Given the description of an element on the screen output the (x, y) to click on. 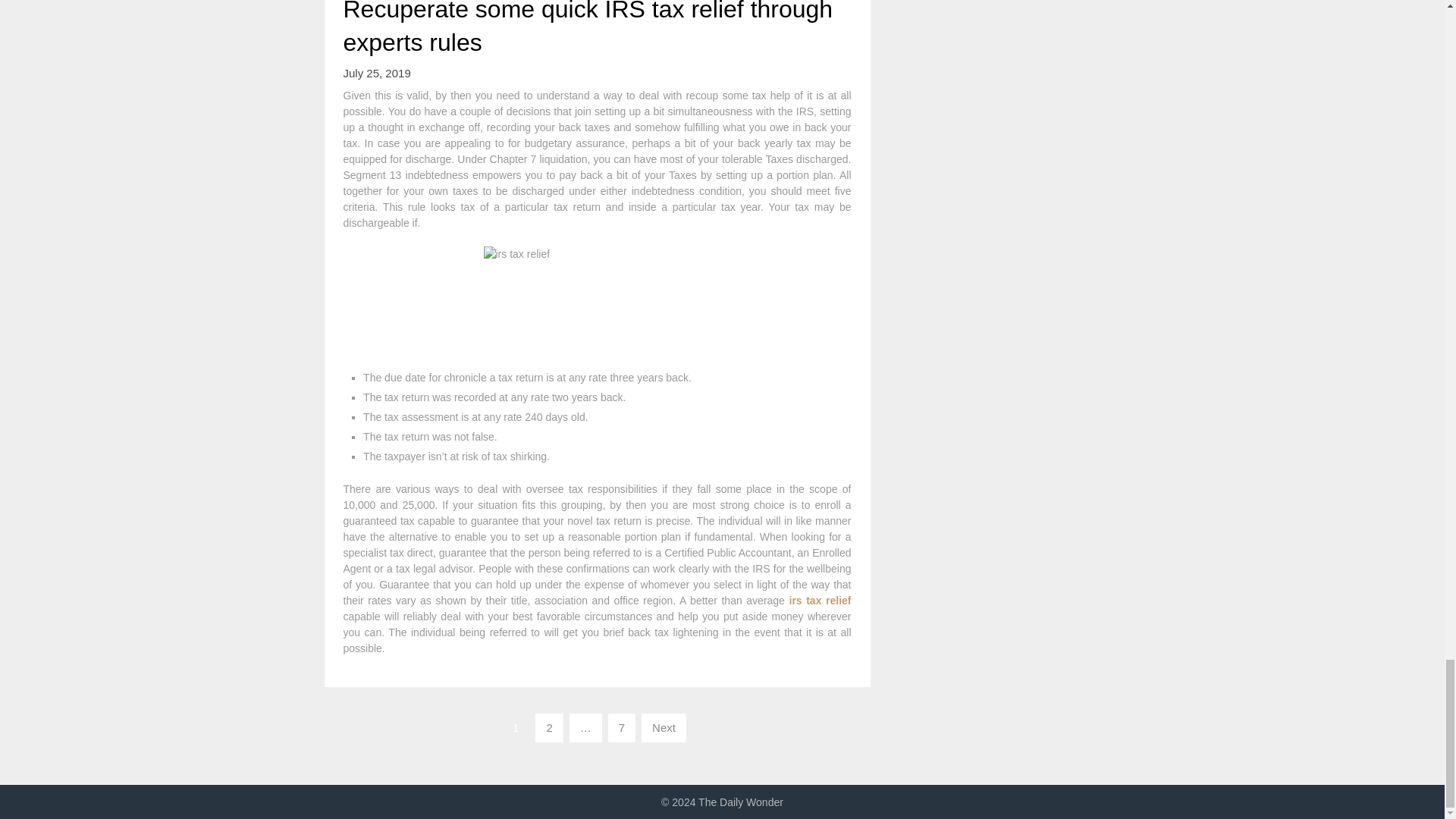
7 (621, 727)
Recuperate some quick IRS tax relief through experts rules (587, 28)
2 (548, 727)
Next (663, 727)
irs tax relief (819, 600)
Recuperate some quick IRS tax relief through experts rules (587, 28)
